Given the description of an element on the screen output the (x, y) to click on. 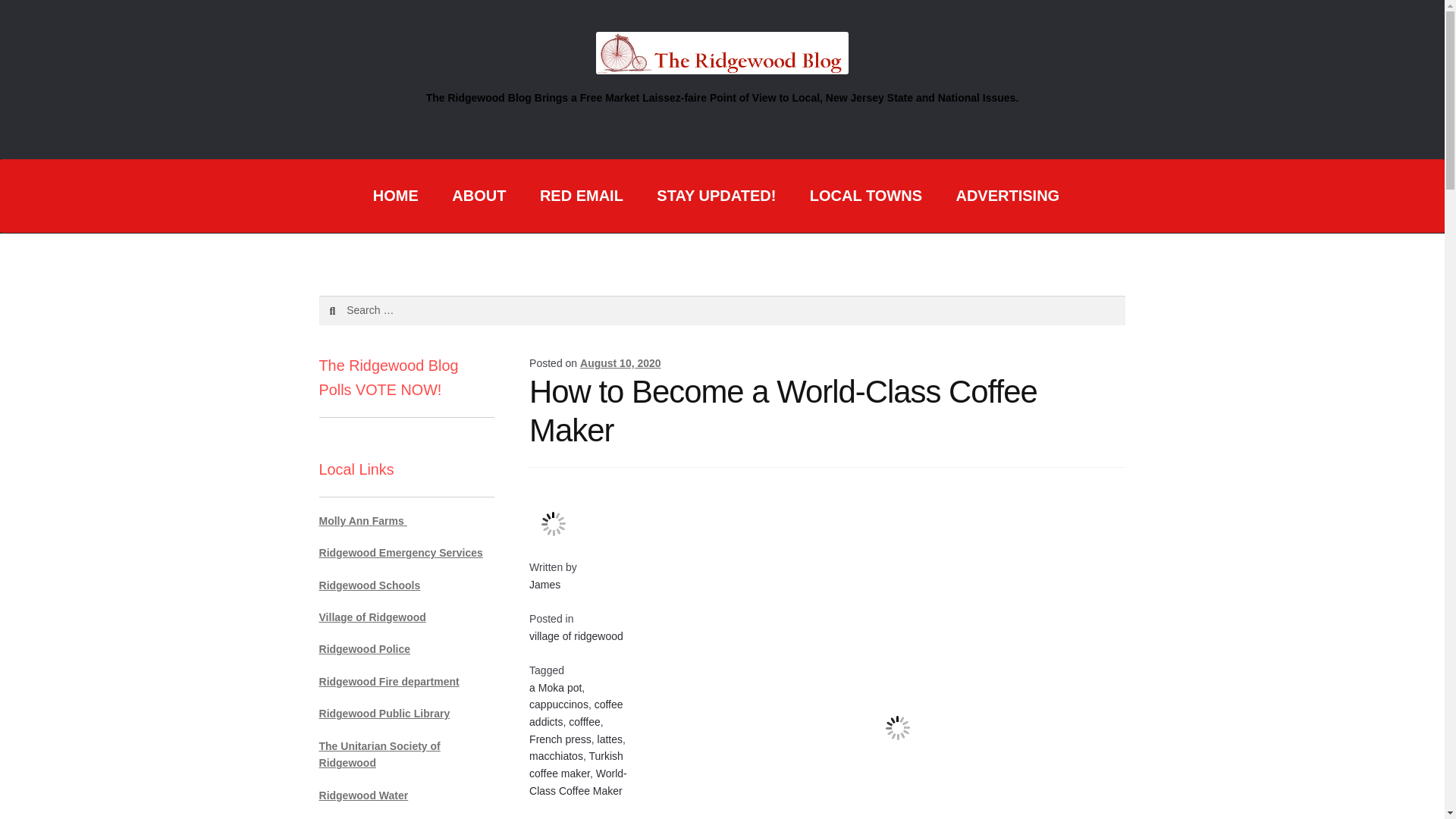
a Moka pot (554, 687)
LOCAL TOWNS (865, 195)
World-Class Coffee Maker (578, 781)
village of ridgewood (576, 635)
ABOUT (478, 195)
cofffee (584, 721)
James (544, 584)
cappuccinos (558, 704)
RED EMAIL (581, 195)
